Given the description of an element on the screen output the (x, y) to click on. 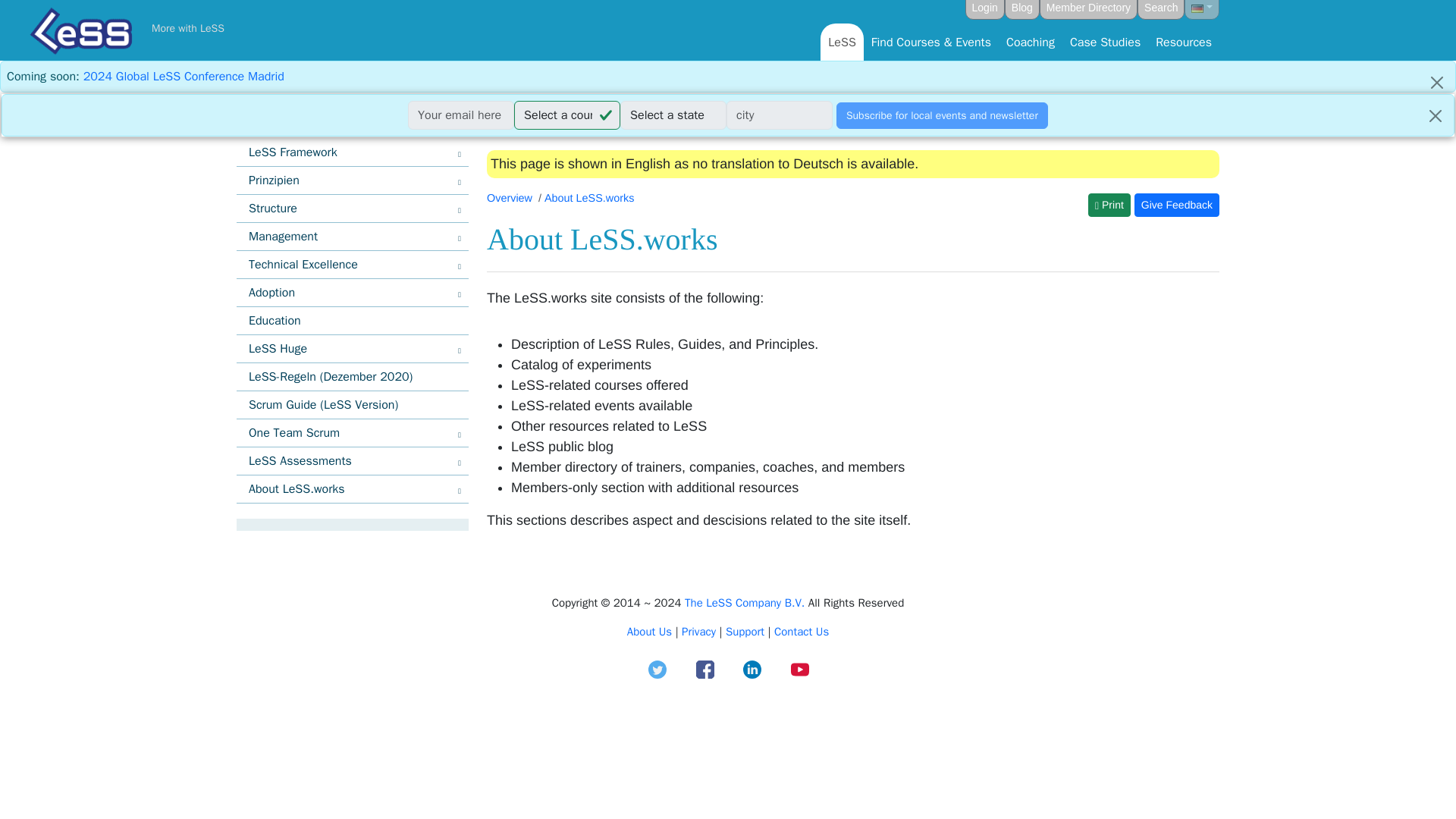
Member Directory (1088, 9)
Login (984, 9)
Subscribe for local events and newsletter (941, 115)
Blog (1021, 9)
More with LeSS (187, 28)
LeSS (842, 41)
Search (1161, 9)
